Given the description of an element on the screen output the (x, y) to click on. 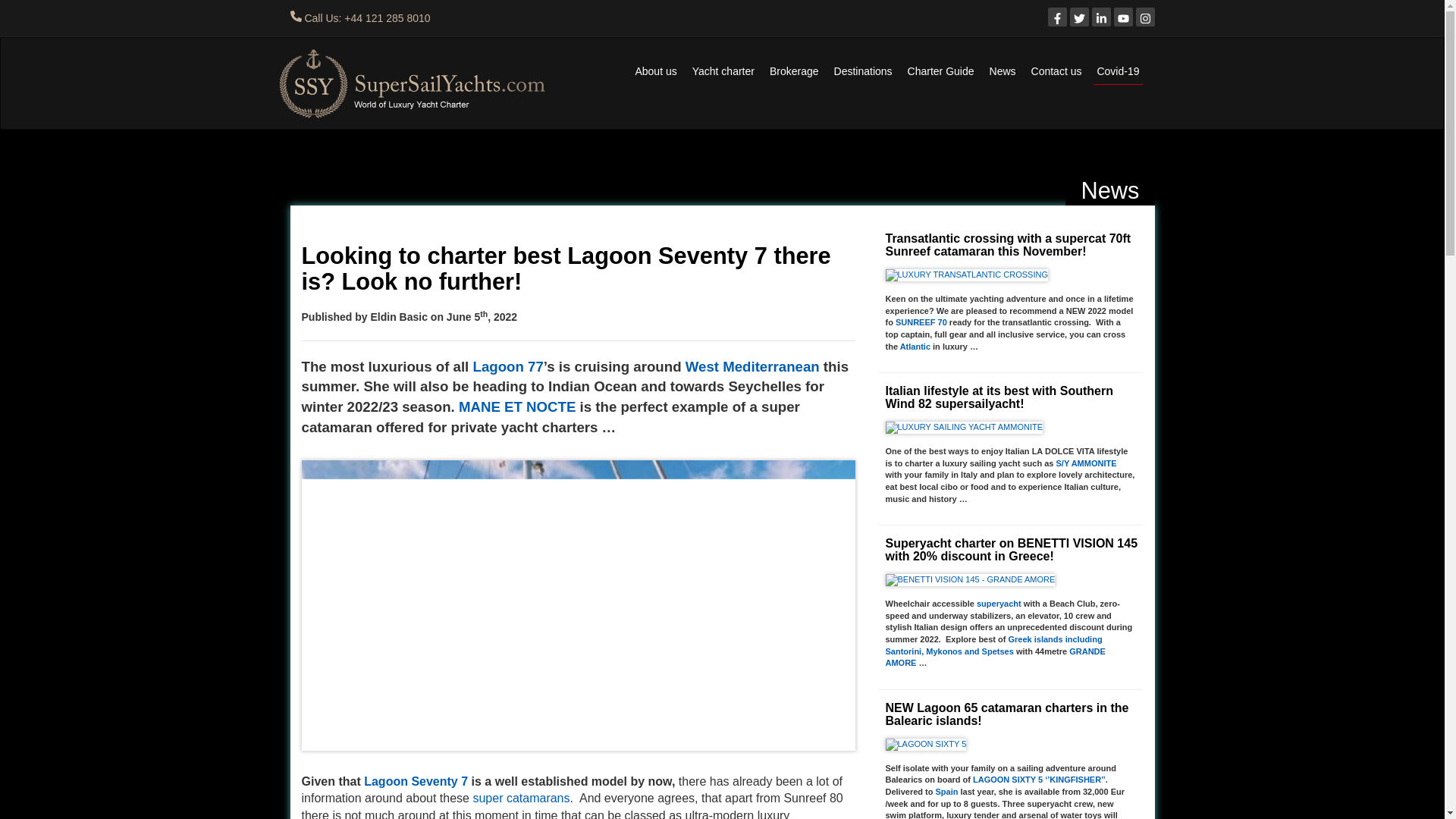
Charter Guide (941, 71)
MANE ET NOCTE (516, 406)
Brokerage (793, 71)
Lagoon Seventy 7 (415, 780)
About us (654, 71)
Contact us (1056, 71)
Lagoon 77 (507, 366)
super catamarans (520, 797)
Destinations (862, 71)
News (1002, 71)
